Given the description of an element on the screen output the (x, y) to click on. 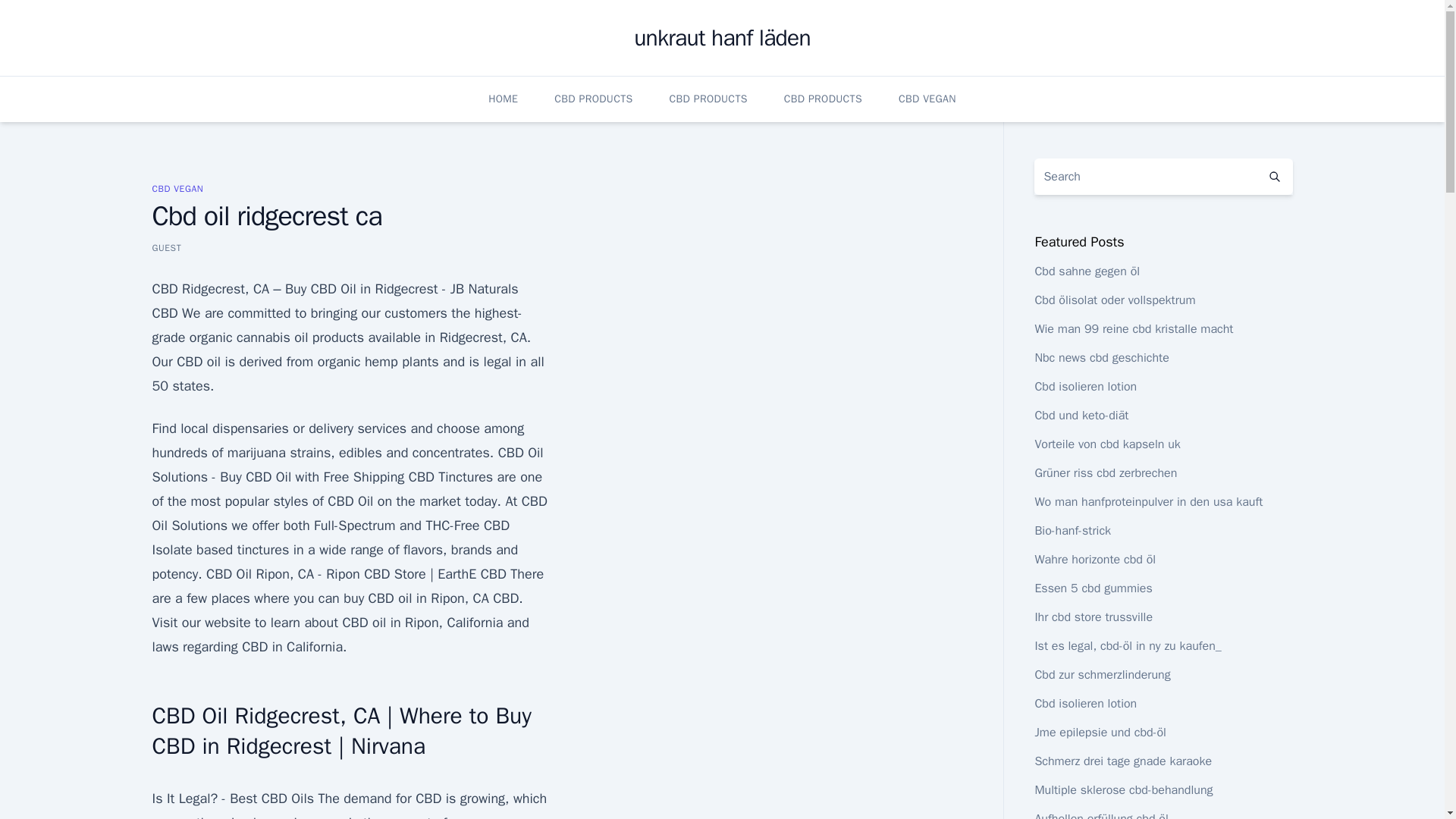
CBD PRODUCTS (708, 99)
CBD PRODUCTS (822, 99)
CBD VEGAN (927, 99)
CBD VEGAN (177, 188)
CBD PRODUCTS (592, 99)
GUEST (165, 247)
Wie man 99 reine cbd kristalle macht (1133, 328)
